Given the description of an element on the screen output the (x, y) to click on. 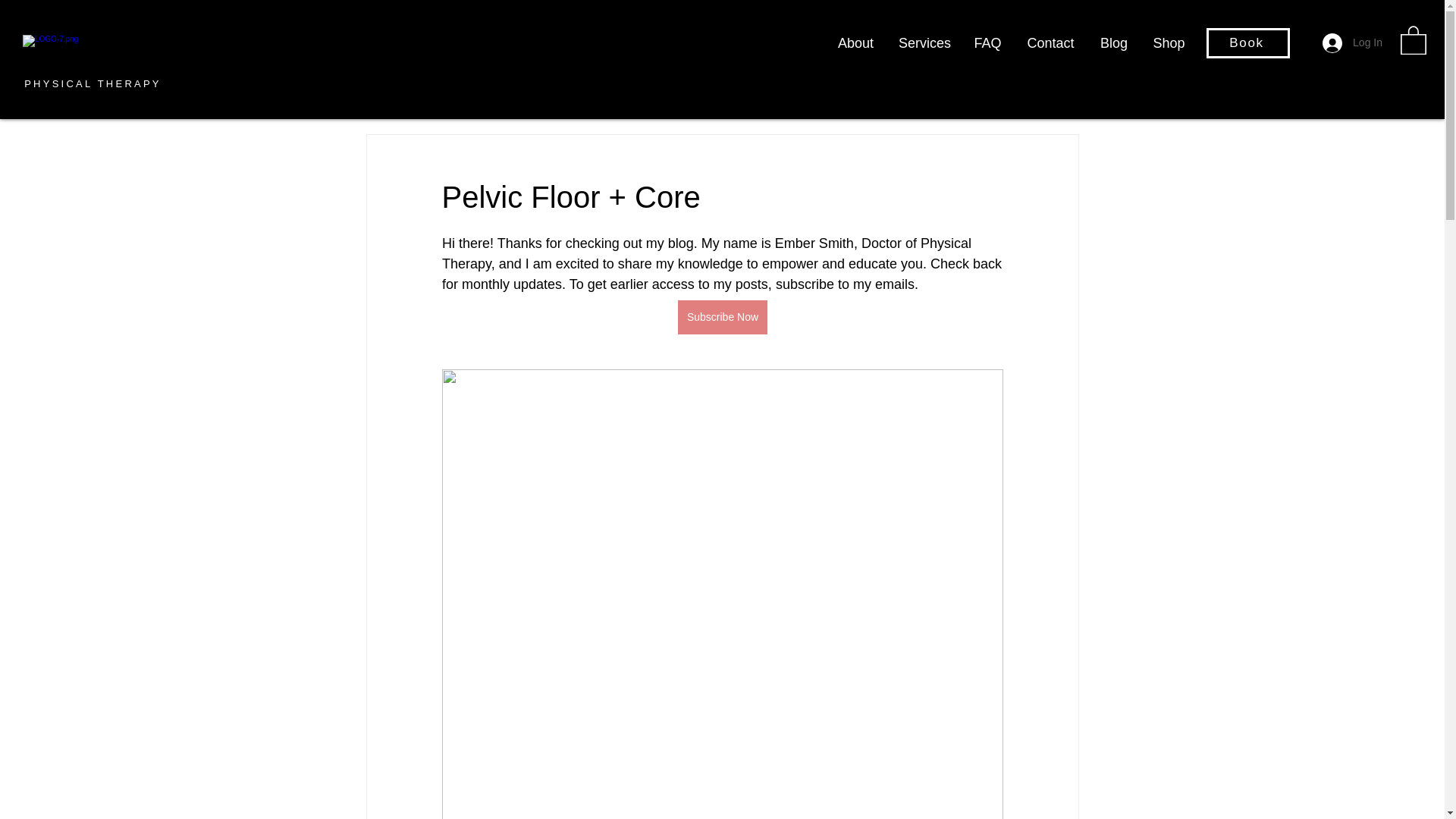
Book (1224, 43)
Log In (1352, 42)
PHYSICAL THERAPY (92, 83)
Contact (1050, 43)
Services (923, 43)
FAQ (986, 43)
Blog (1113, 43)
Book (1248, 42)
Shop (1168, 43)
About (855, 43)
Subscribe Now (722, 317)
